Given the description of an element on the screen output the (x, y) to click on. 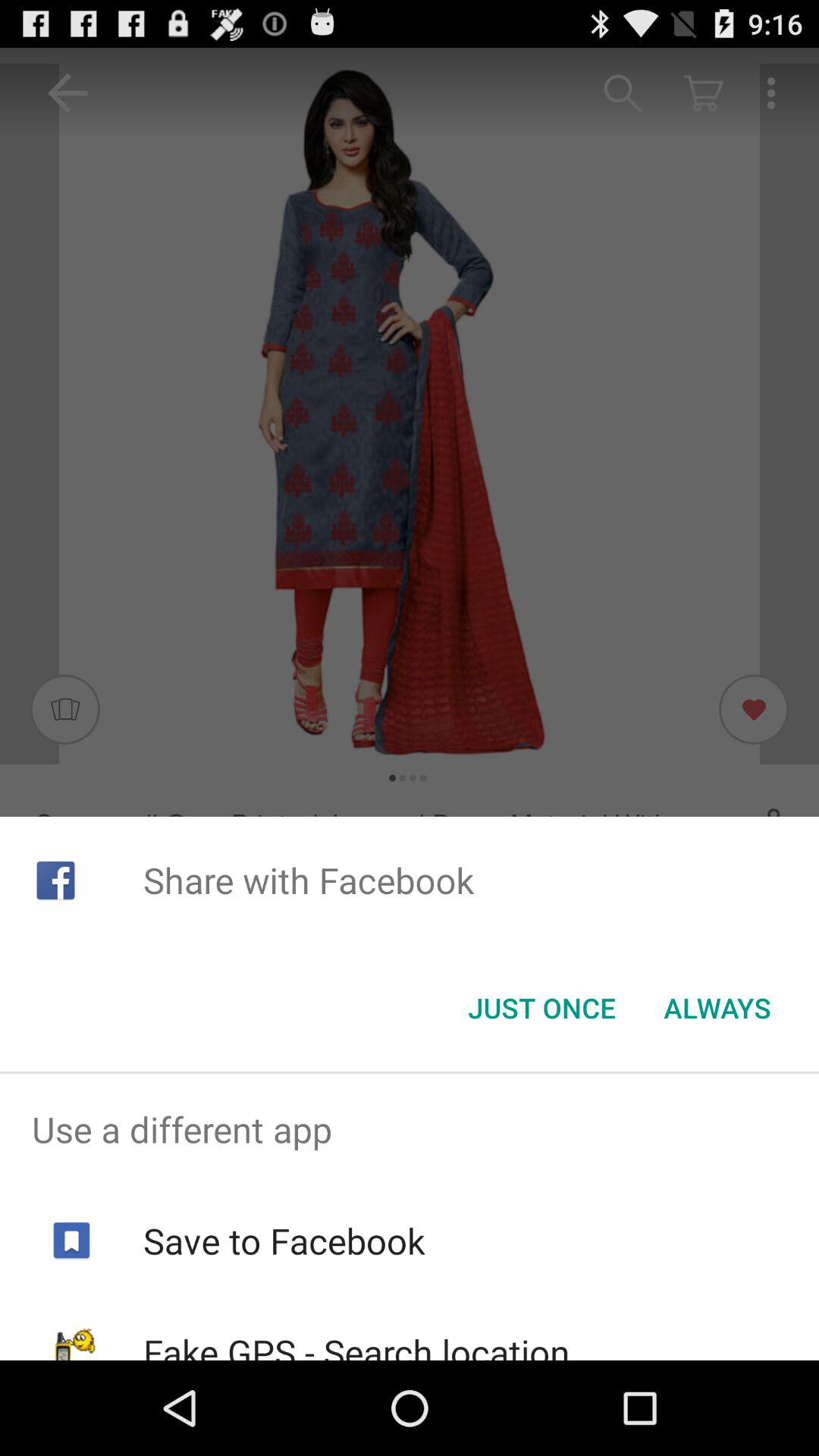
swipe until the fake gps search icon (356, 1344)
